Given the description of an element on the screen output the (x, y) to click on. 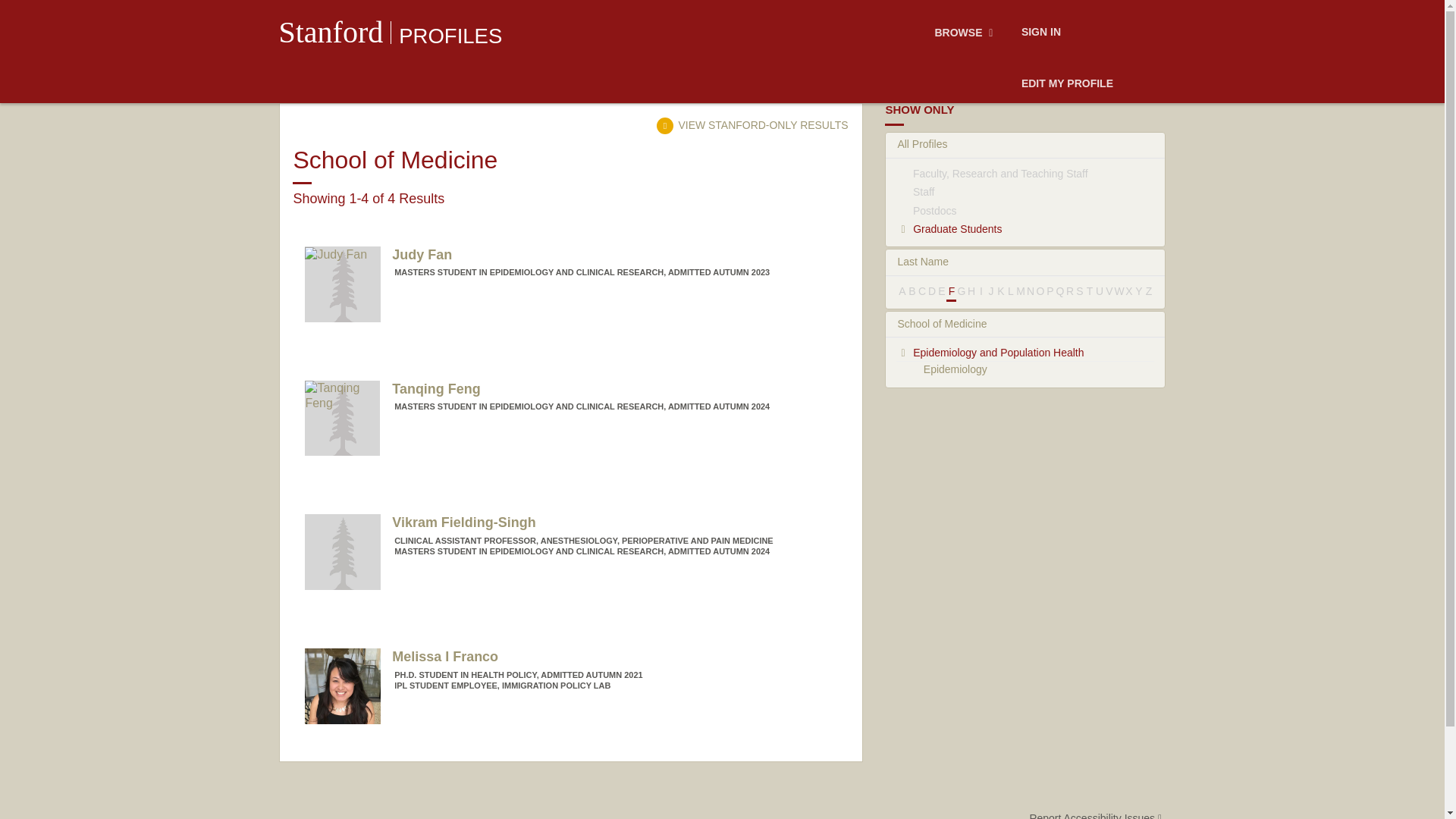
Stanford (331, 32)
PROFILES (450, 35)
SIGN IN (1040, 32)
EDIT MY PROFILE (1067, 84)
BROWSE (966, 32)
VIEW STANFORD-ONLY RESULTS (751, 124)
